Given the description of an element on the screen output the (x, y) to click on. 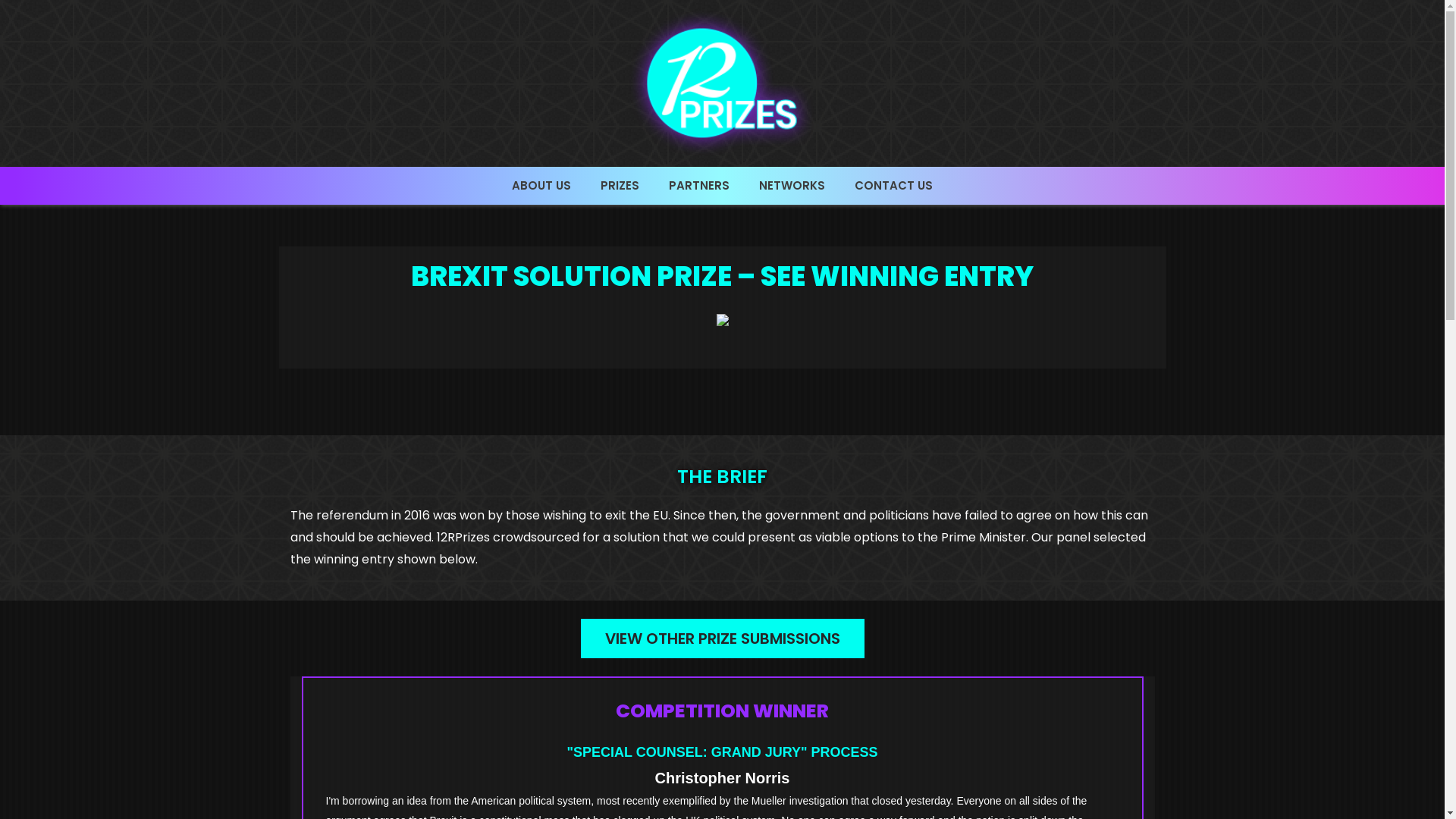
CONTACT US Element type: text (893, 185)
ABOUT US Element type: text (541, 185)
PARTNERS Element type: text (698, 185)
VIEW OTHER PRIZE SUBMISSIONS Element type: text (722, 638)
NETWORKS Element type: text (792, 185)
PRIZES Element type: text (619, 185)
